Given the description of an element on the screen output the (x, y) to click on. 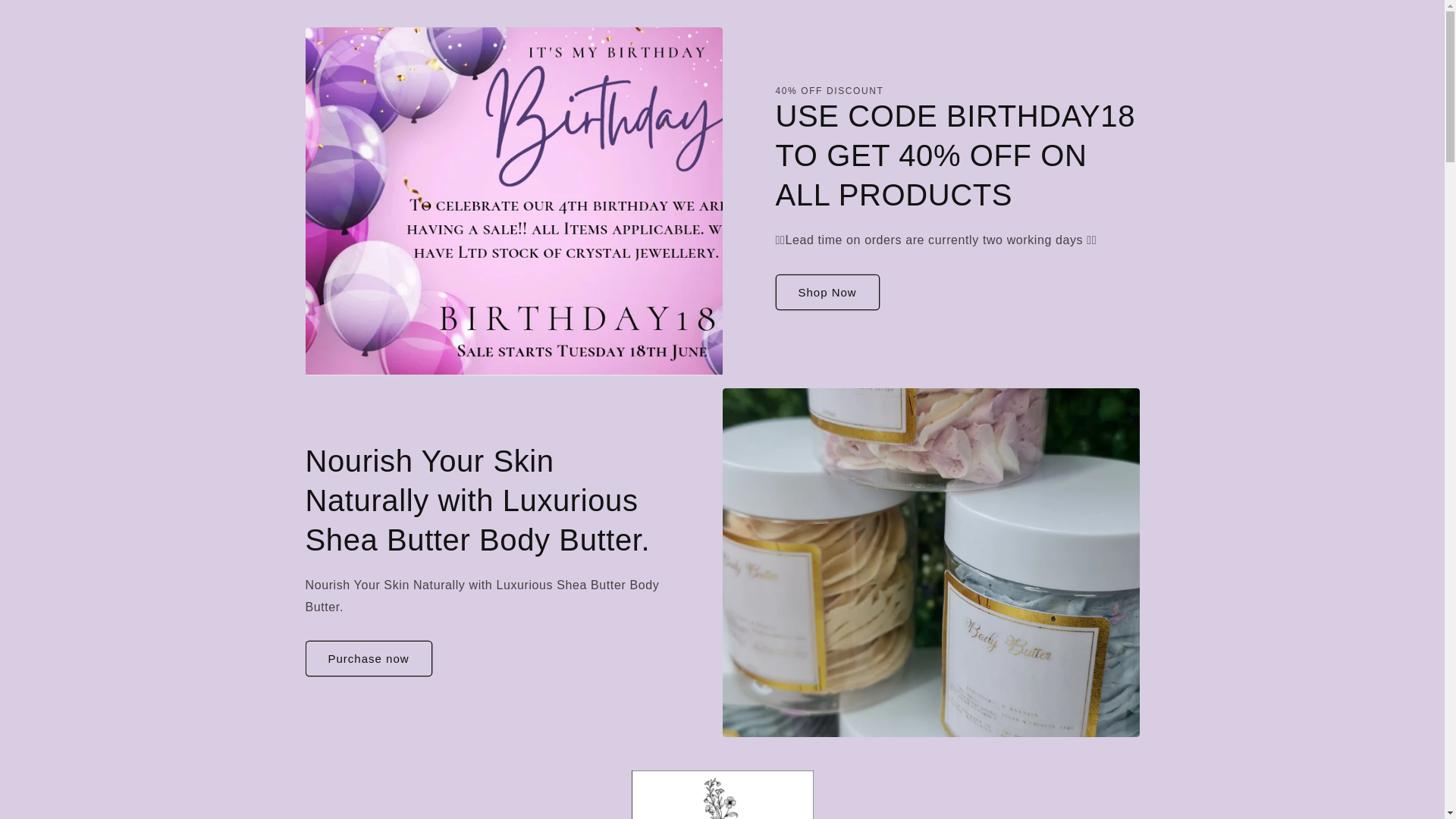
Vai direttamente ai contenuti (45, 17)
Shop Now (826, 292)
Carrello (1131, 817)
Purchase now (367, 658)
Accedi (1098, 817)
